Given the description of an element on the screen output the (x, y) to click on. 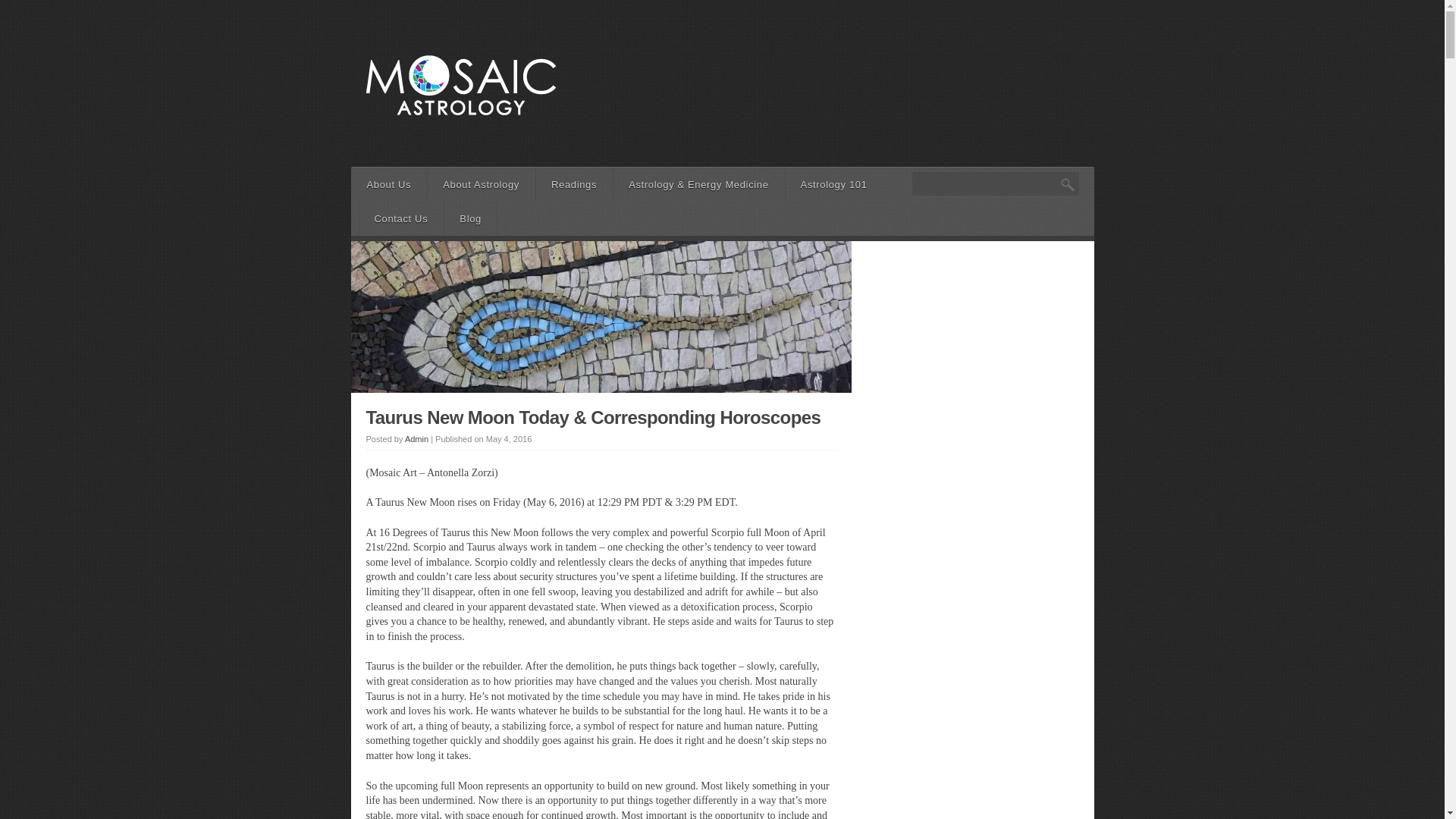
Posts by Admin (416, 438)
Blog (470, 218)
Contact Us (401, 218)
About Astrology (480, 184)
Mosaic Astrology -  (459, 124)
Astrology 101 (833, 184)
Readings (573, 184)
About Us (390, 184)
Admin (416, 438)
